Given the description of an element on the screen output the (x, y) to click on. 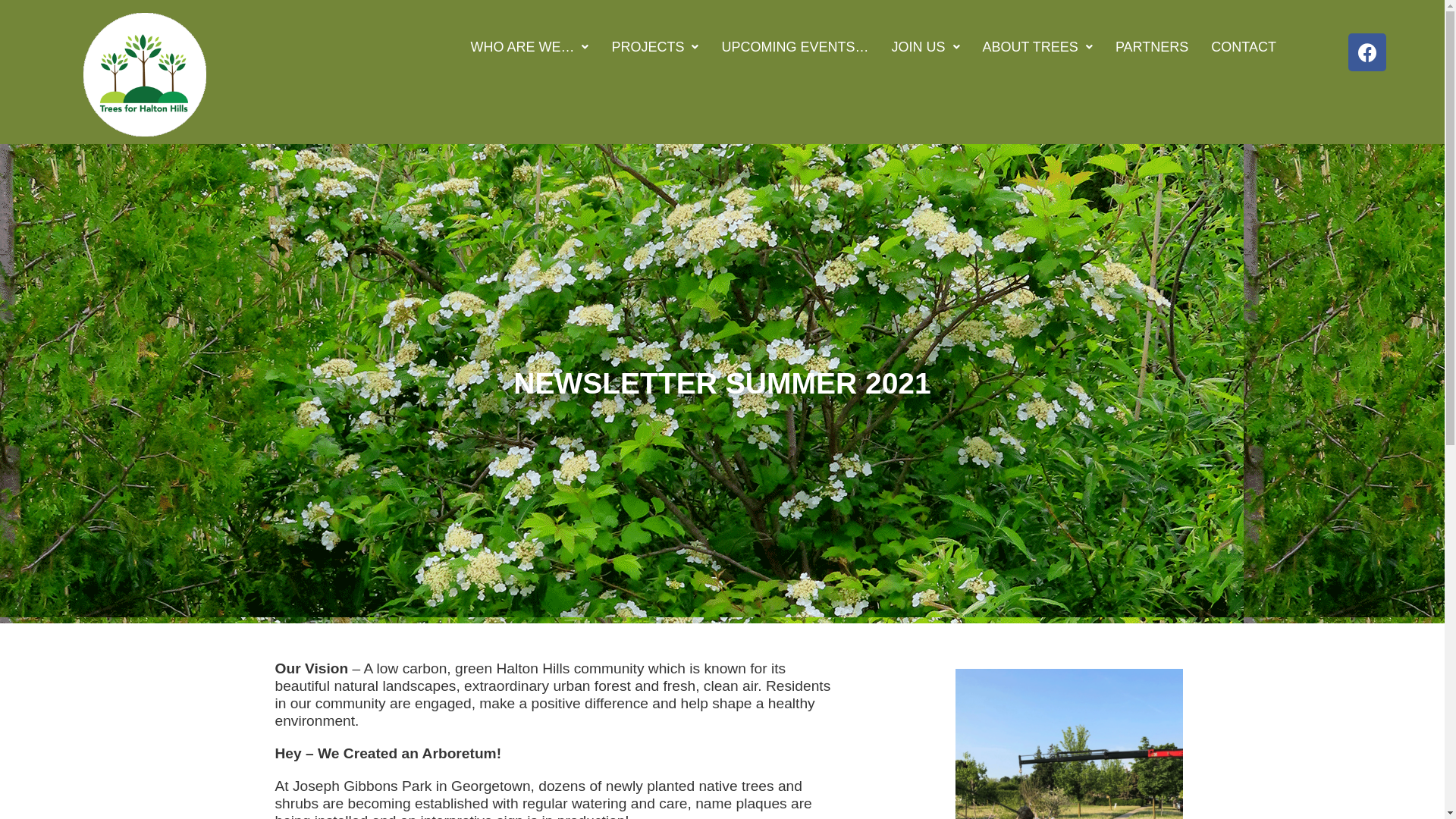
PROJECTS Element type: text (654, 46)
ABOUT TREES Element type: text (1036, 46)
CONTACT Element type: text (1243, 46)
PARTNERS Element type: text (1151, 46)
JOIN US Element type: text (924, 46)
